Given the description of an element on the screen output the (x, y) to click on. 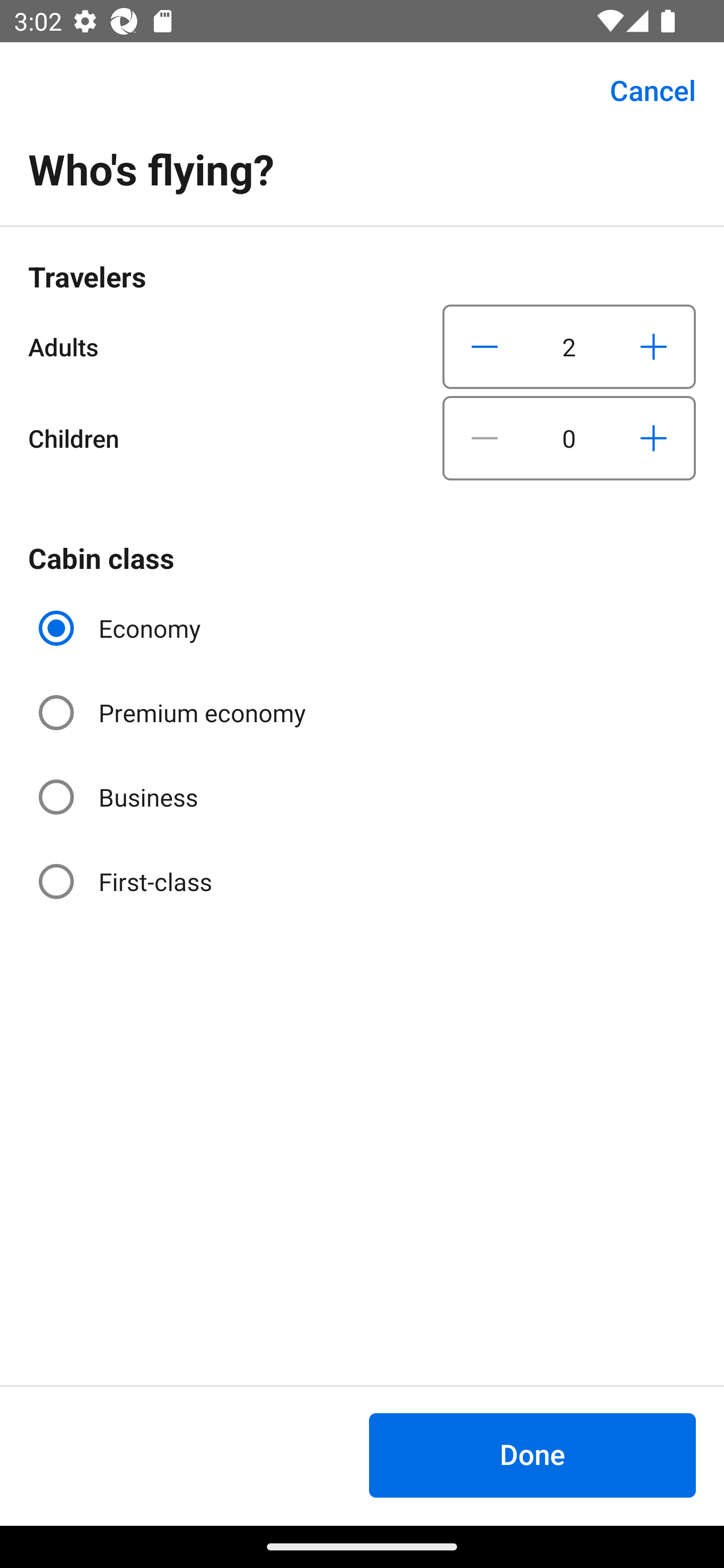
Cancel (641, 90)
Decrease (484, 346)
Increase (653, 346)
Decrease (484, 437)
Increase (653, 437)
Economy (121, 628)
Premium economy (174, 712)
Business (120, 796)
First-class (126, 880)
Done (532, 1454)
